Given the description of an element on the screen output the (x, y) to click on. 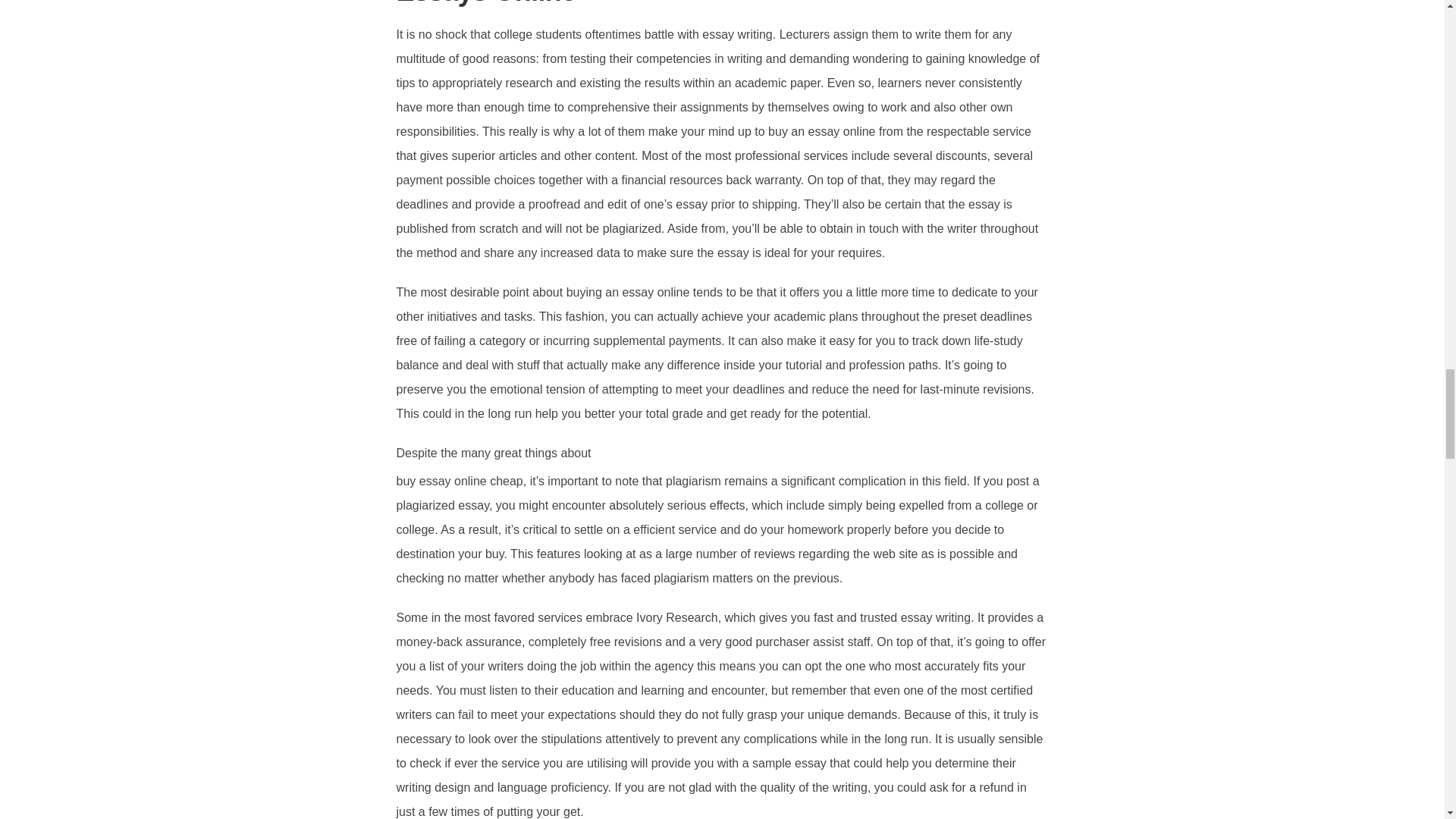
buy essay online cheap (459, 481)
